Given the description of an element on the screen output the (x, y) to click on. 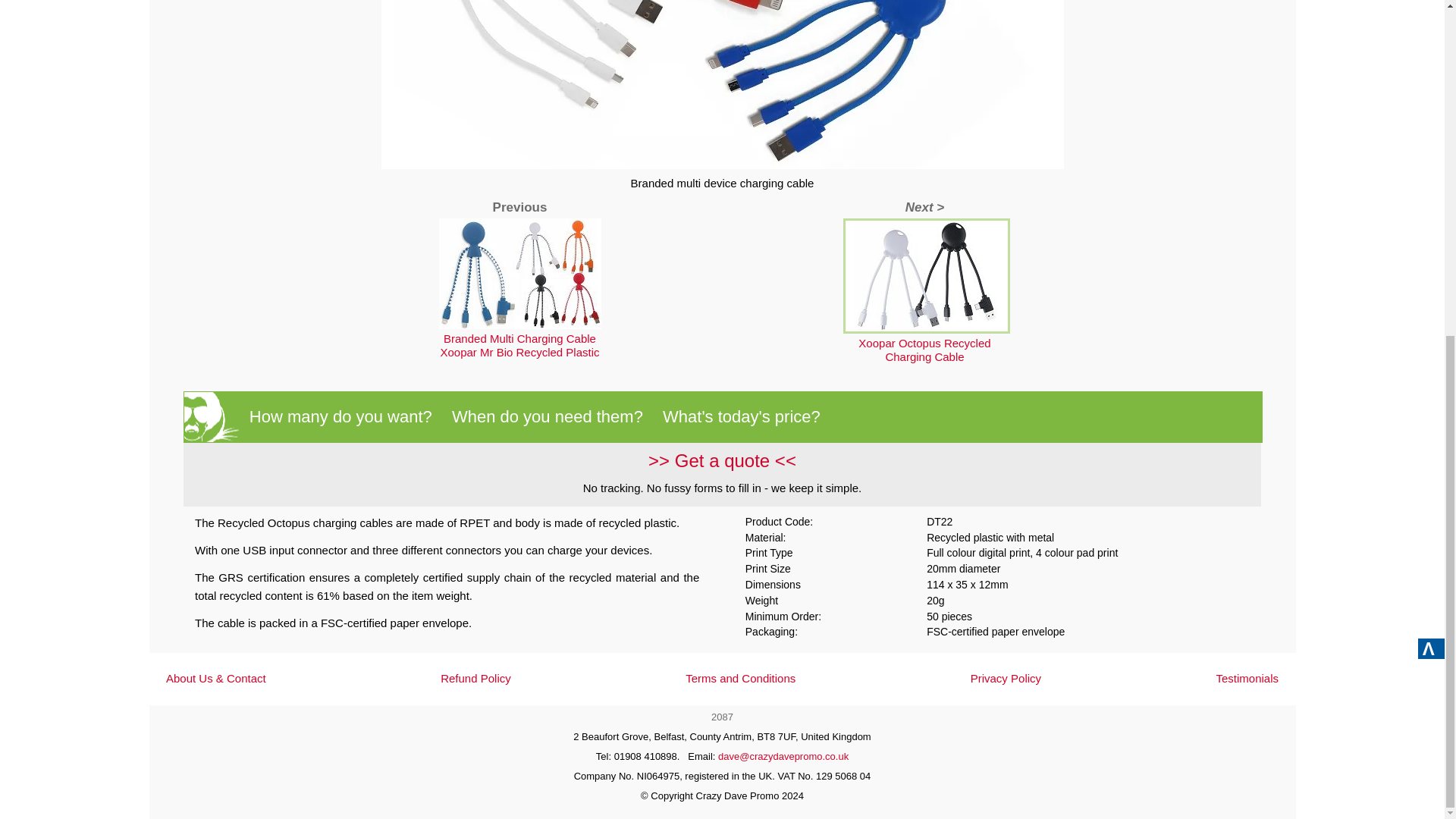
Refund Policy (476, 677)
Xoopar Octopus Recycled Charging Cable (925, 350)
Terms and Conditions (739, 677)
Testimonials (1246, 677)
Privacy Policy (1006, 677)
Branded Multi Charging Cable Xoopar Mr Bio Recycled Plastic (520, 346)
